Given the description of an element on the screen output the (x, y) to click on. 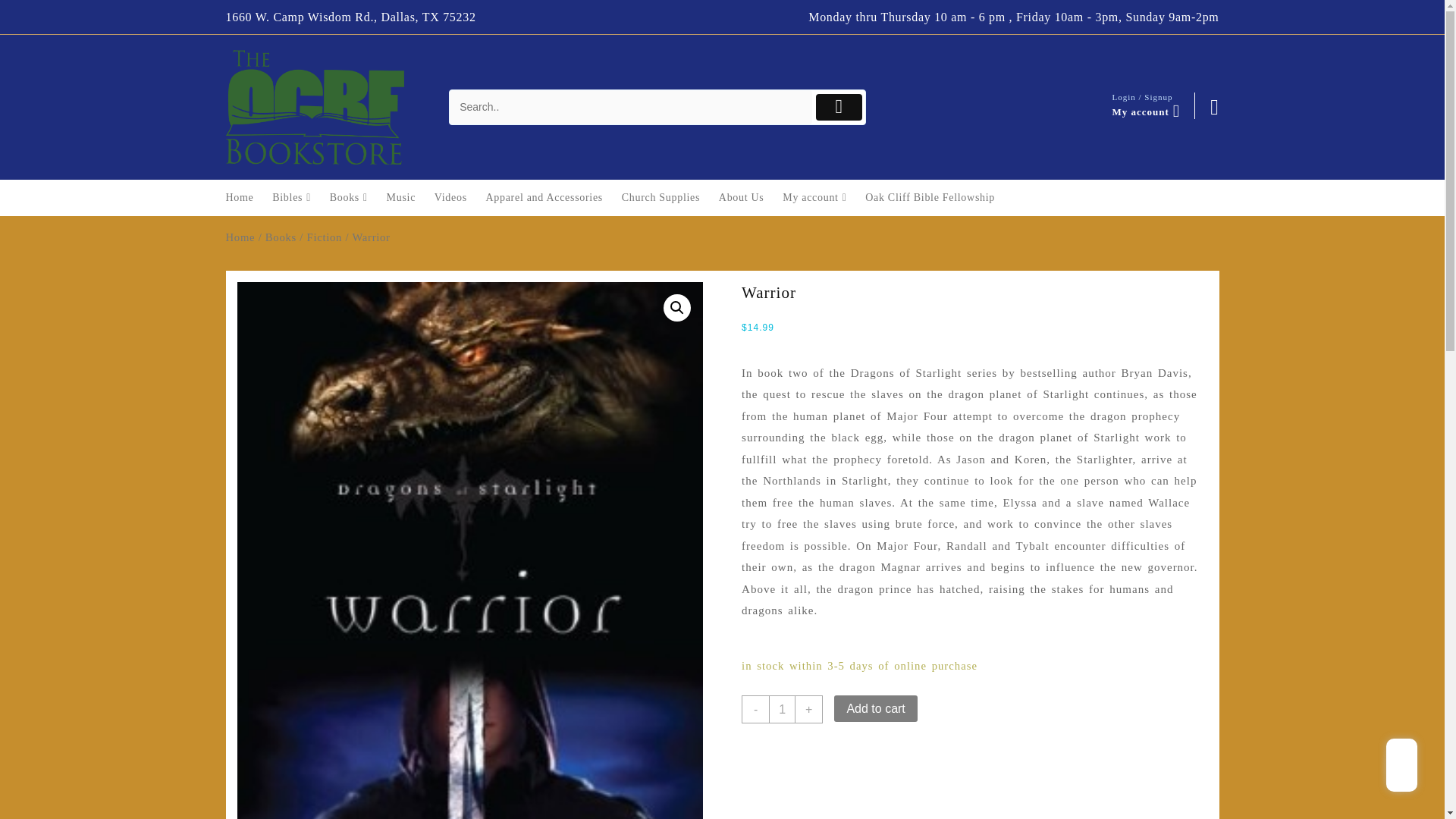
1660 W. Camp Wisdom Rd., Dallas, TX 75232 (350, 16)
Search (630, 107)
1 (781, 709)
Submit (838, 107)
